Given the description of an element on the screen output the (x, y) to click on. 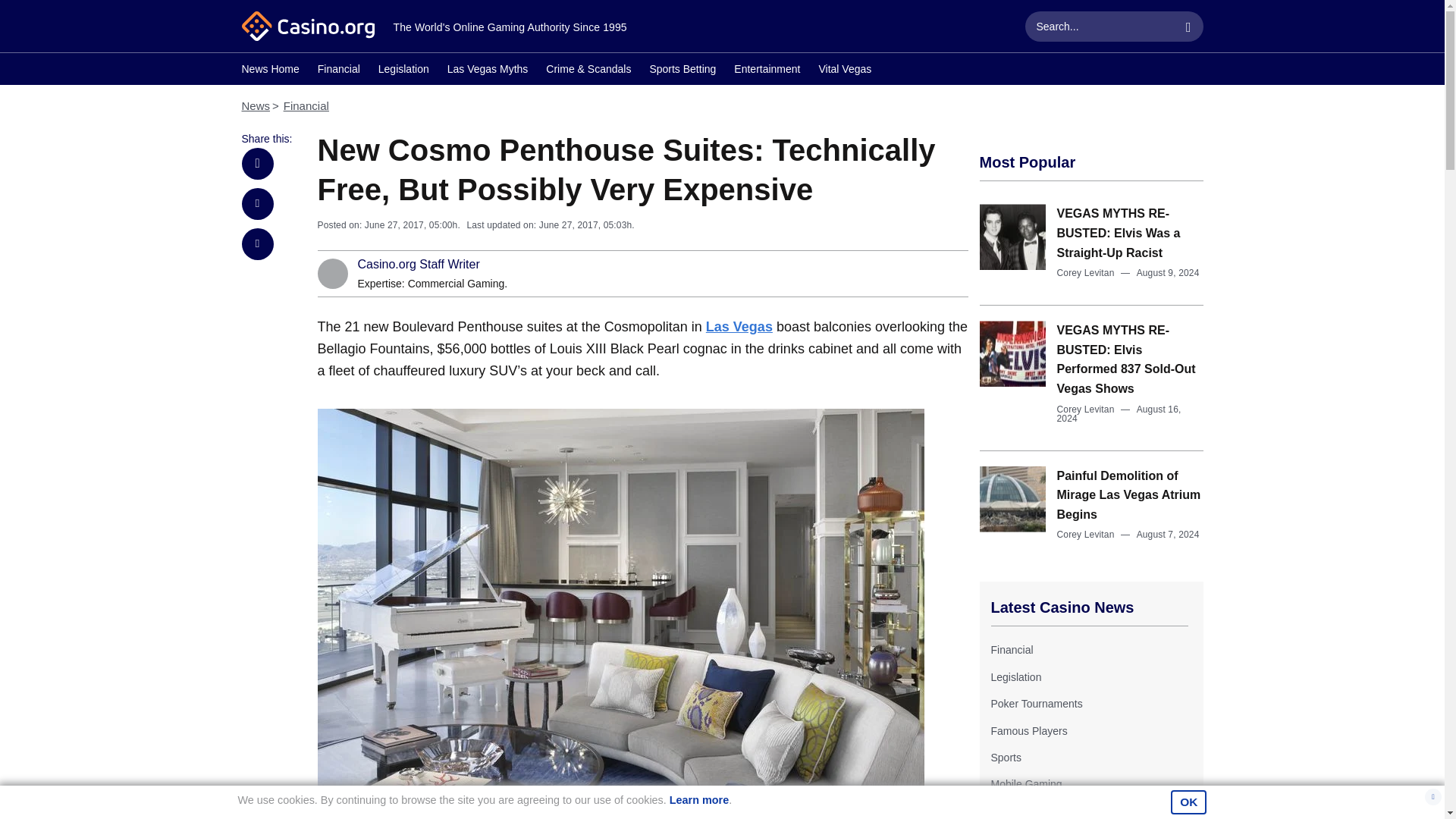
Legislation (1015, 676)
Commercial Gaming (456, 283)
News Home (269, 70)
VEGAS MYTHS RE-BUSTED: Elvis Was a Straight-Up Racist (1118, 232)
Corey Levitan (1086, 272)
Financial (1011, 649)
Poker Tournaments (1035, 703)
Mobile Gaming (1025, 784)
Famous Players (1028, 730)
